Given the description of an element on the screen output the (x, y) to click on. 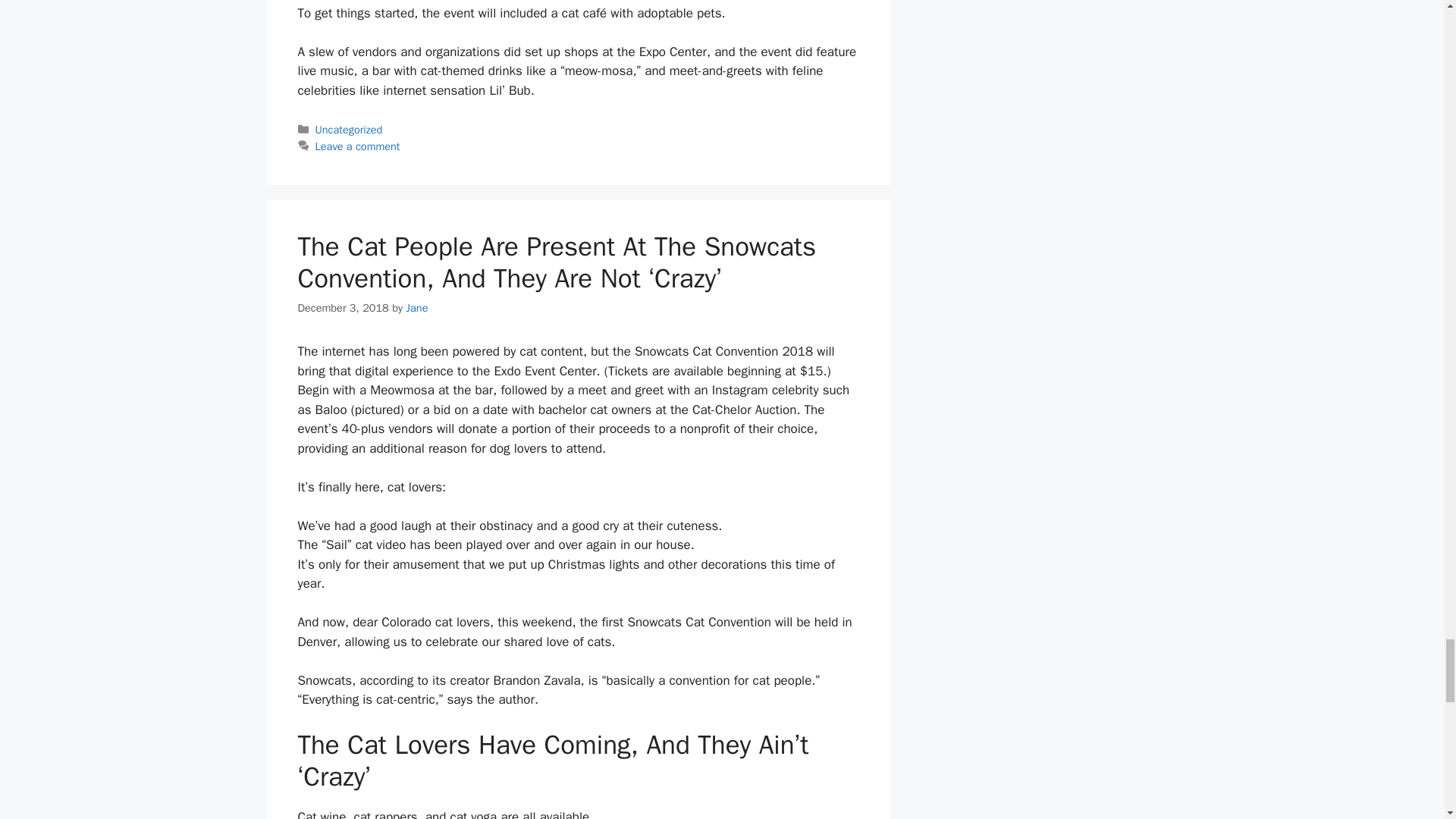
View all posts by Jane (417, 307)
